Given the description of an element on the screen output the (x, y) to click on. 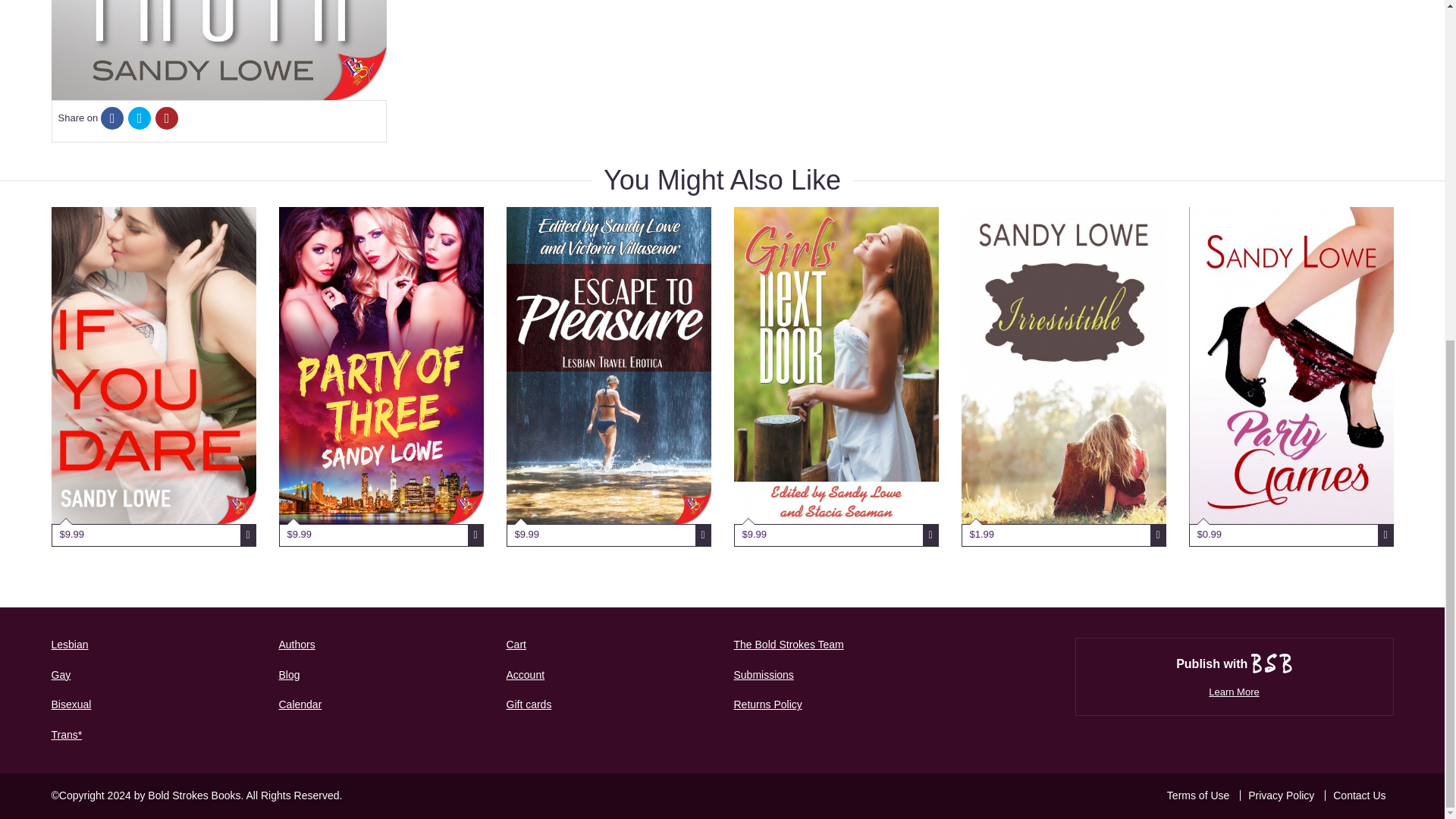
Facebook (111, 119)
Pinterest (166, 119)
Twitter (139, 119)
The Naked Truth  (218, 49)
